Given the description of an element on the screen output the (x, y) to click on. 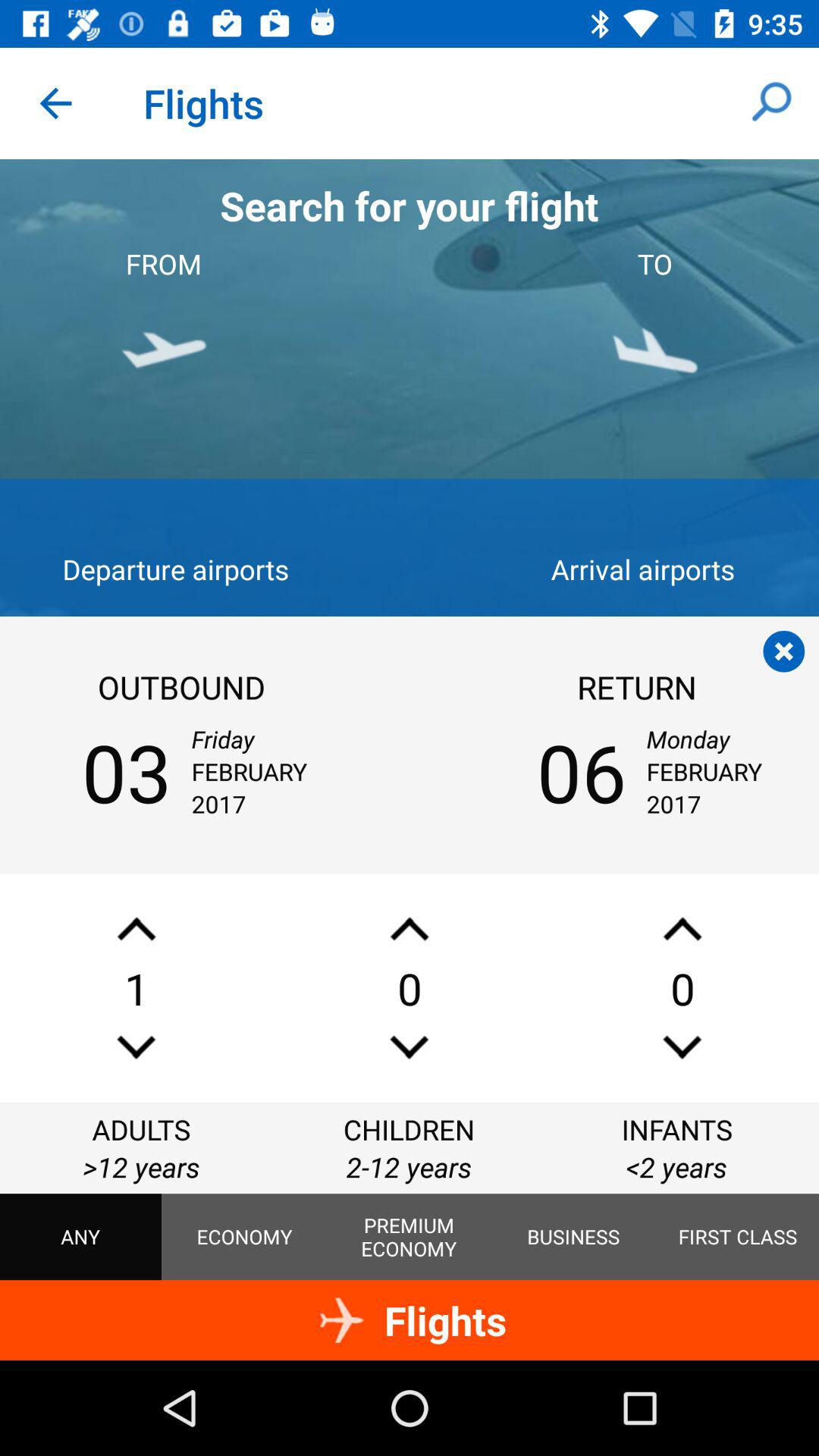
turn on the icon to the left of flights item (55, 103)
